Given the description of an element on the screen output the (x, y) to click on. 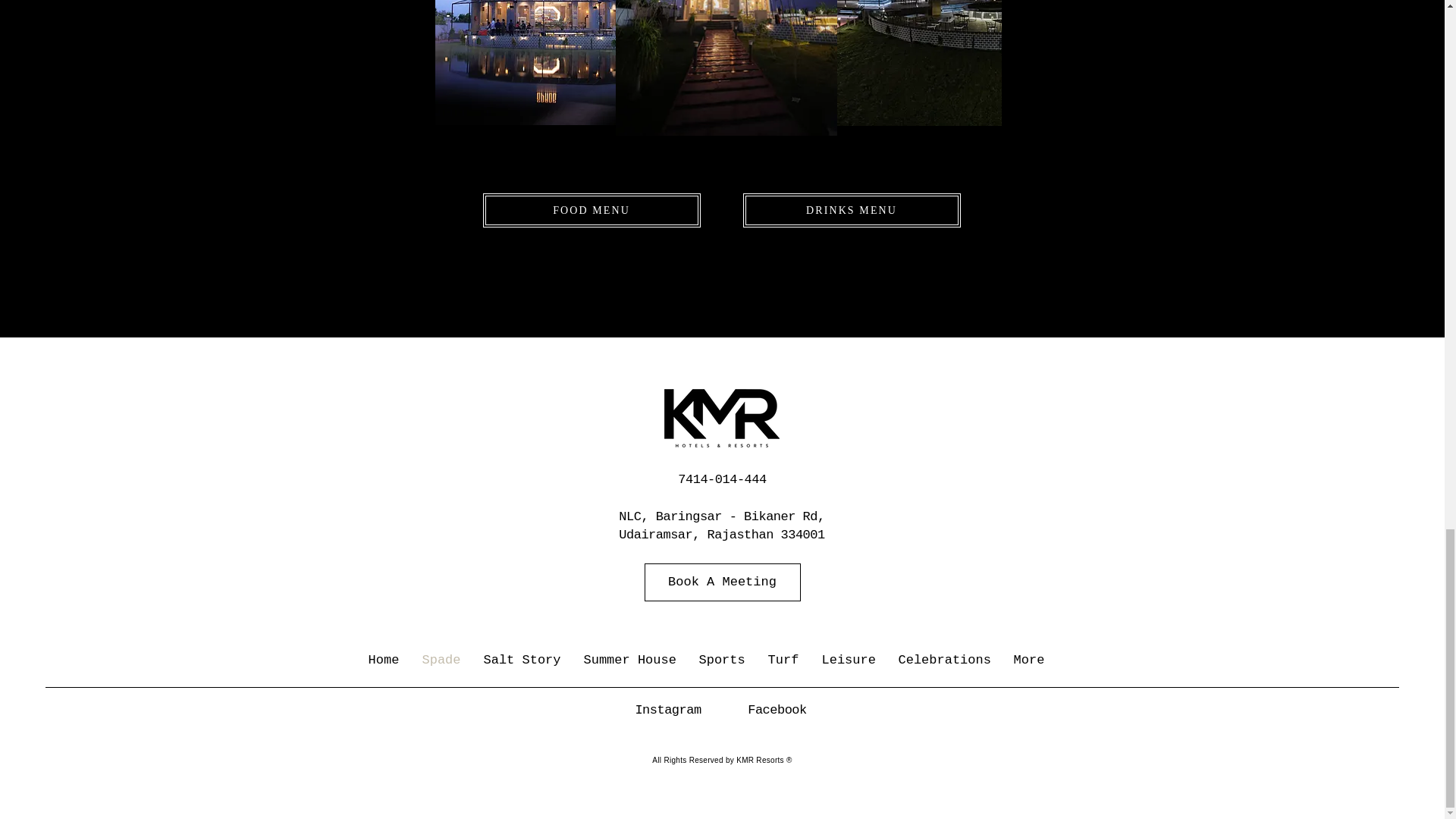
Summer House (629, 660)
DRINKS MENU (851, 210)
Home (383, 660)
Celebrations (944, 660)
Instagram (667, 709)
Leisure (847, 660)
Spade (440, 660)
Book A Meeting (722, 582)
Turf (783, 660)
Salt Story (521, 660)
FOOD MENU (590, 210)
NLC, Baringsar - Bikaner Rd, Udairamsar, Rajasthan 334001 (721, 525)
Sports (721, 660)
Facebook (777, 709)
